Given the description of an element on the screen output the (x, y) to click on. 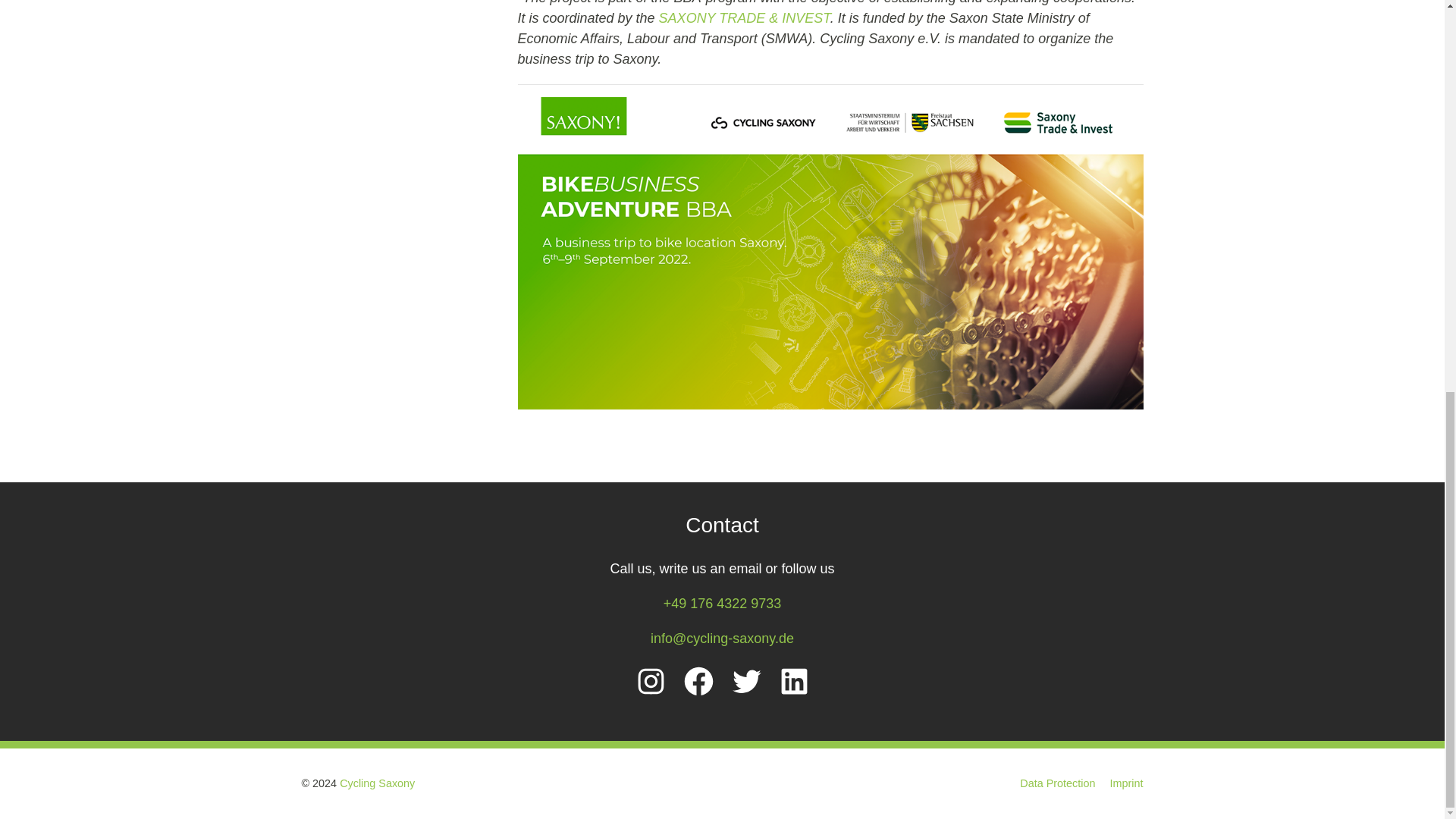
Cycling Saxony (376, 783)
Data Protection (1057, 783)
Imprint (1125, 783)
